Given the description of an element on the screen output the (x, y) to click on. 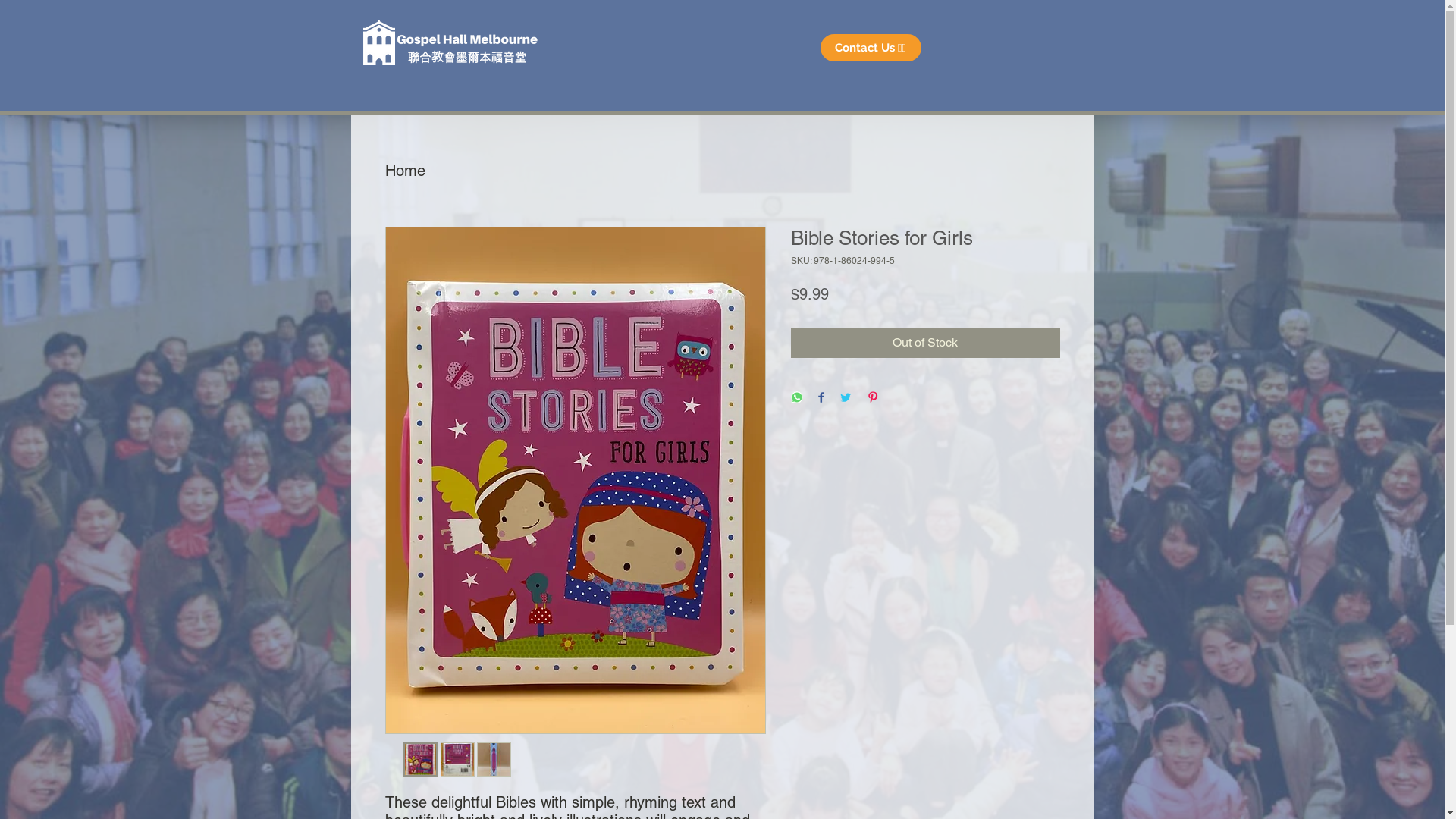
GHM_Logo_ChurchOnly.png Element type: hover (378, 42)
Out of Stock Element type: text (924, 342)
Home Element type: text (405, 170)
